Given the description of an element on the screen output the (x, y) to click on. 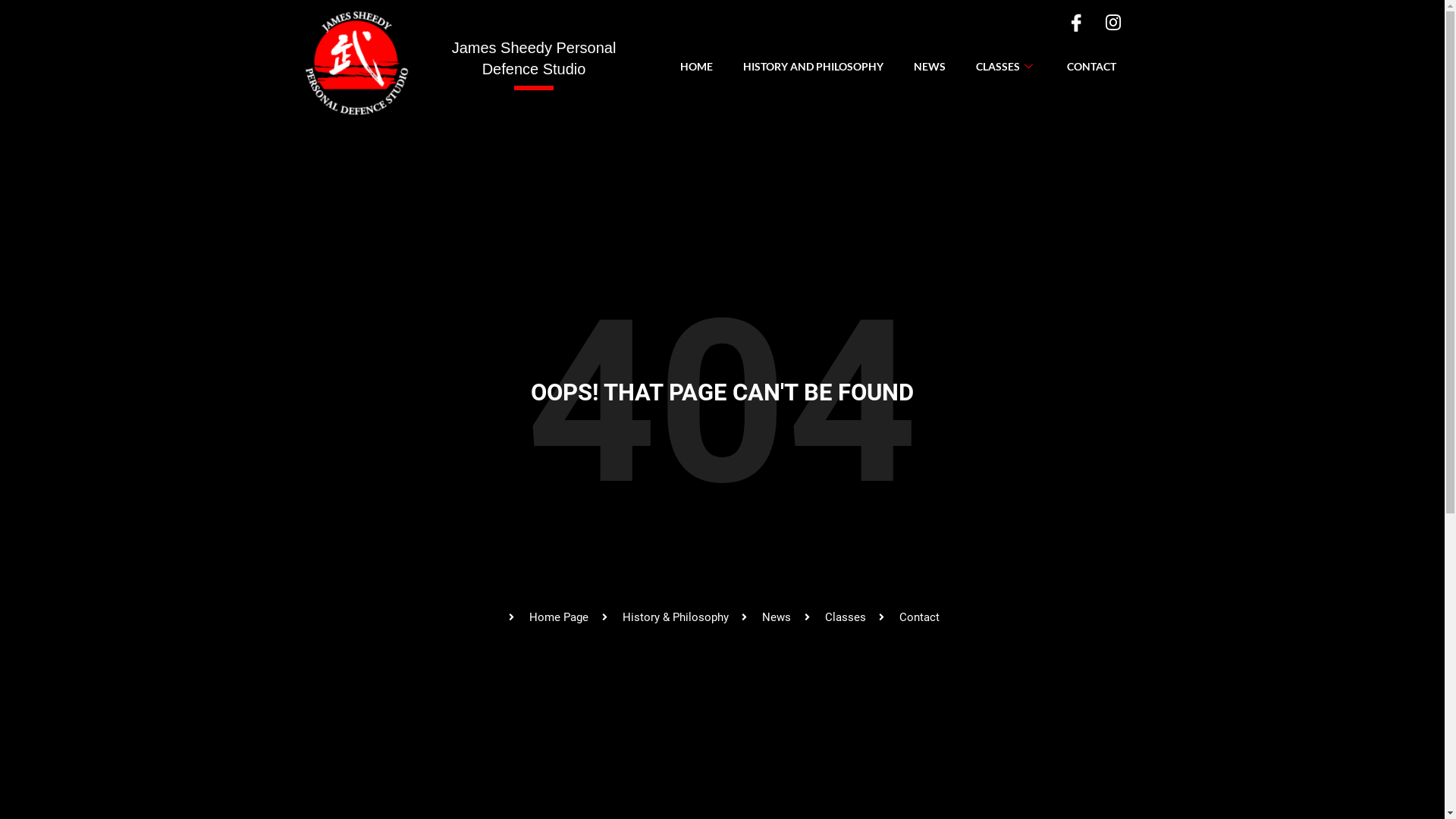
James Sheedy Personal Defence Studio Element type: text (533, 58)
History & Philosophy Element type: text (662, 617)
NEWS Element type: text (929, 66)
HOME Element type: text (696, 66)
Classes Element type: text (833, 617)
News Element type: text (764, 617)
CONTACT Element type: text (1091, 66)
CLASSES Element type: text (1005, 66)
Home Page Element type: text (547, 617)
Contact Element type: text (907, 617)
James-Sheedy-Logo Element type: hover (356, 62)
HISTORY AND PHILOSOPHY Element type: text (813, 66)
